Given the description of an element on the screen output the (x, y) to click on. 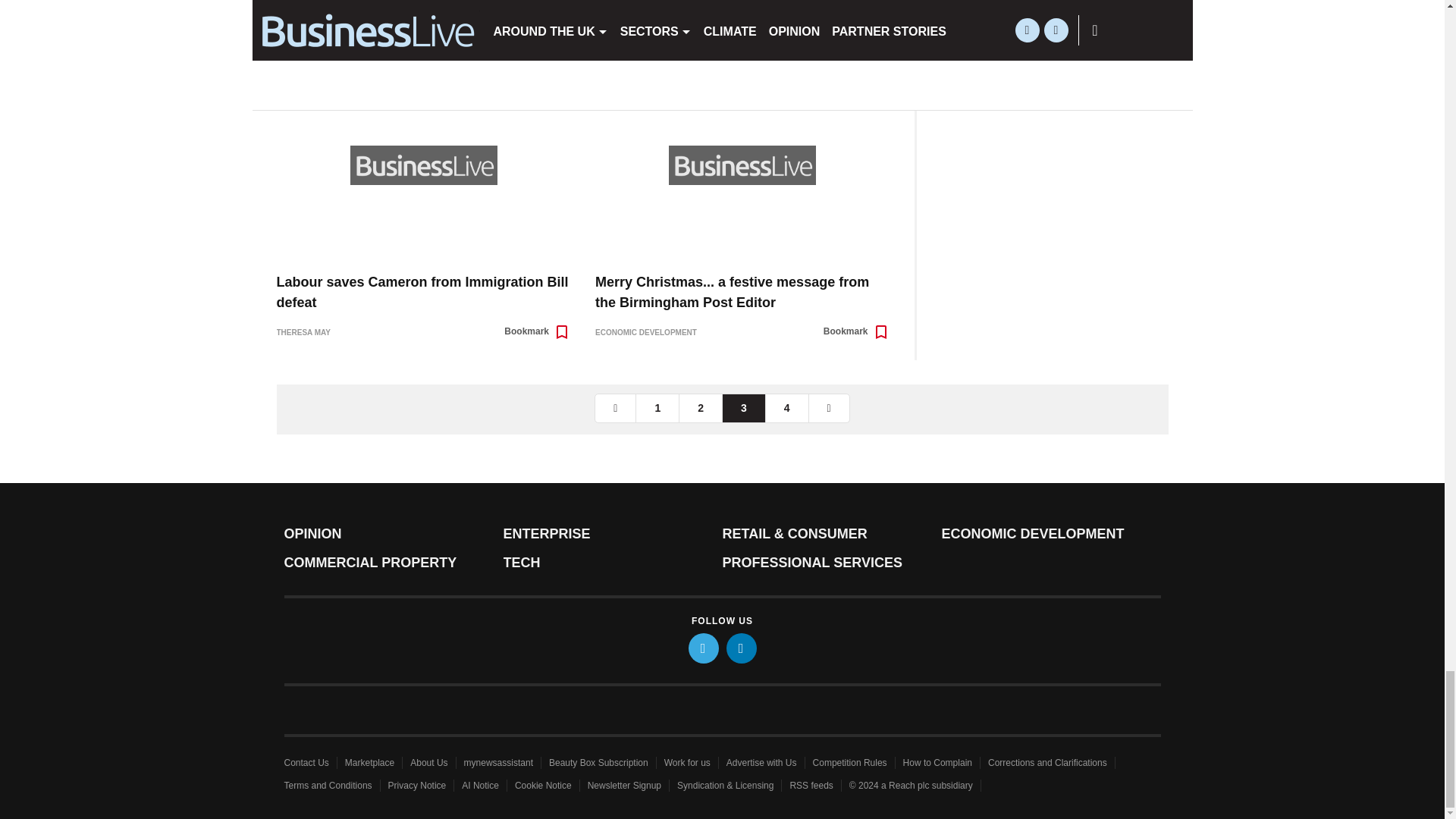
linkedin (741, 648)
twitter (703, 648)
